Given the description of an element on the screen output the (x, y) to click on. 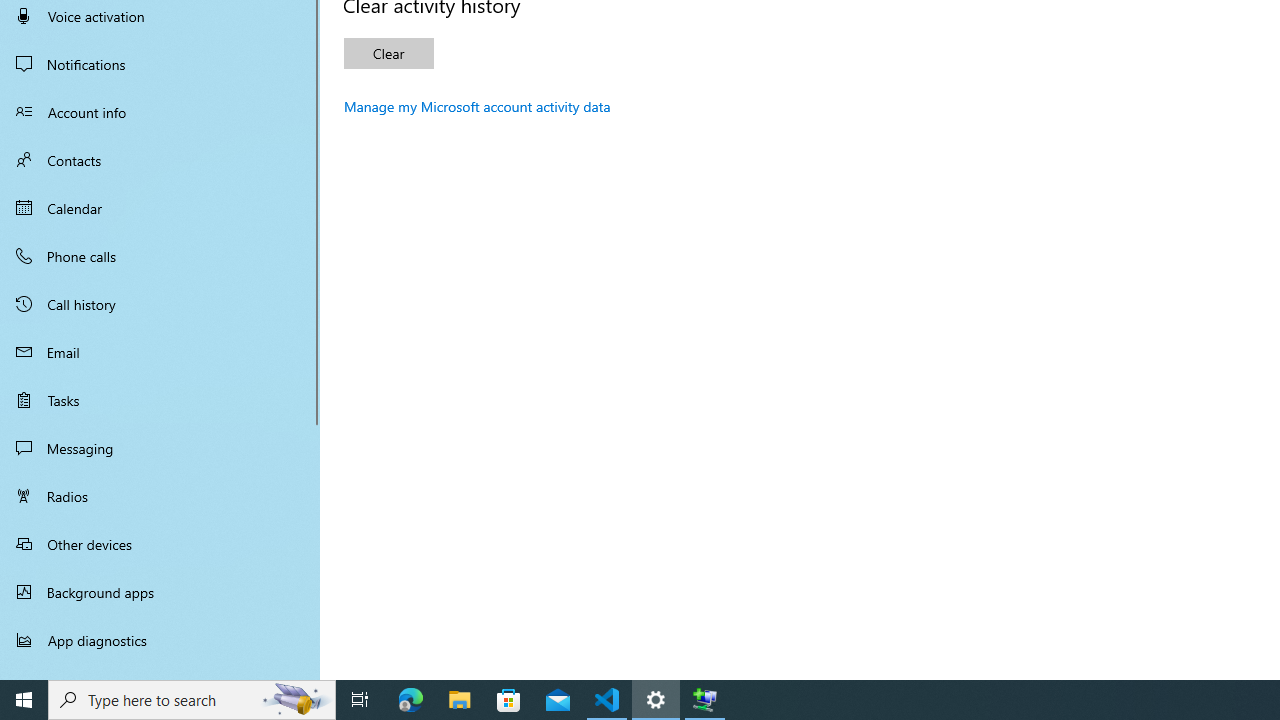
Clear (388, 53)
Manage my Microsoft account activity data (477, 106)
Messaging (160, 448)
Background apps (160, 592)
Notifications (160, 63)
Tasks (160, 399)
Calendar (160, 207)
